Given the description of an element on the screen output the (x, y) to click on. 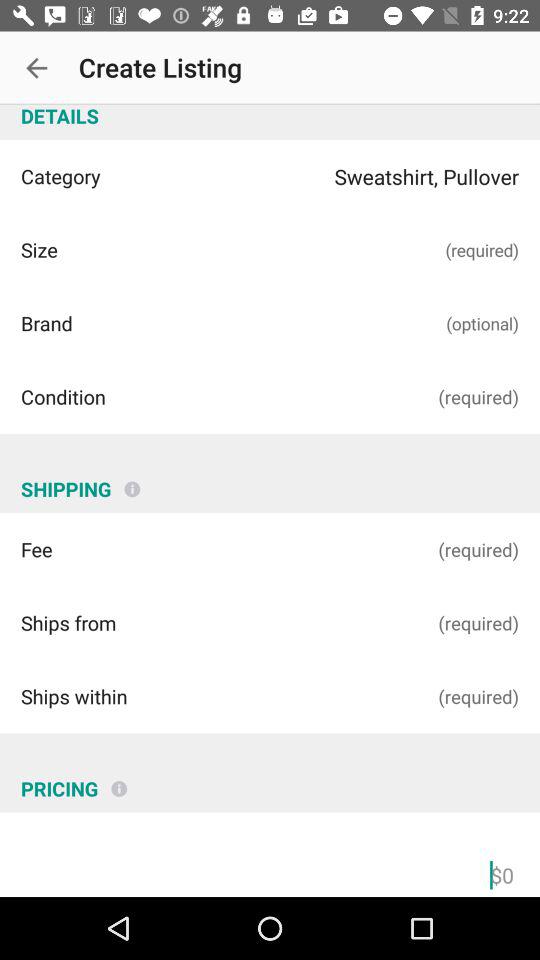
open item next to shipping item (132, 481)
